Given the description of an element on the screen output the (x, y) to click on. 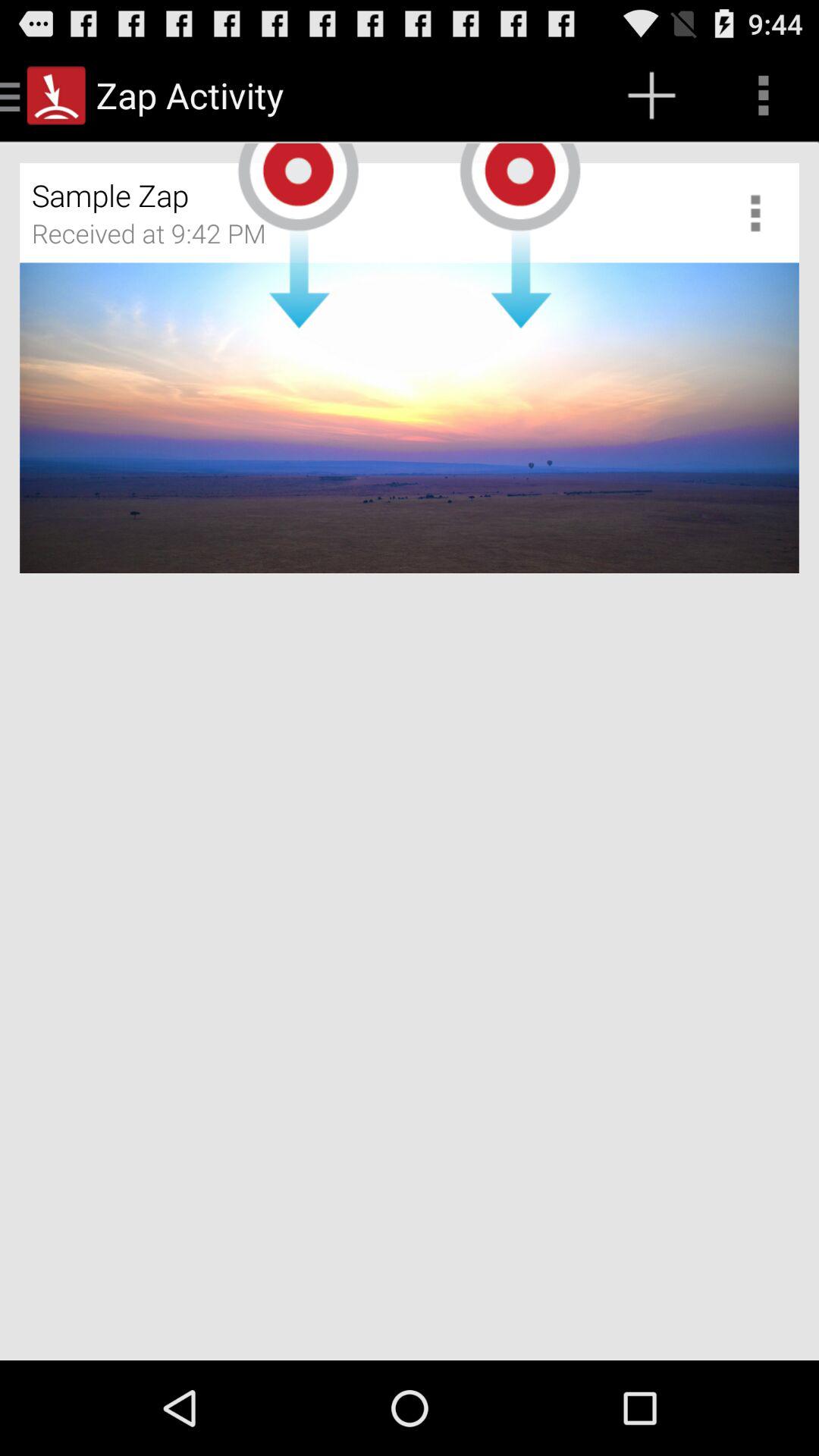
tap icon to the right of sample zap item (761, 212)
